Given the description of an element on the screen output the (x, y) to click on. 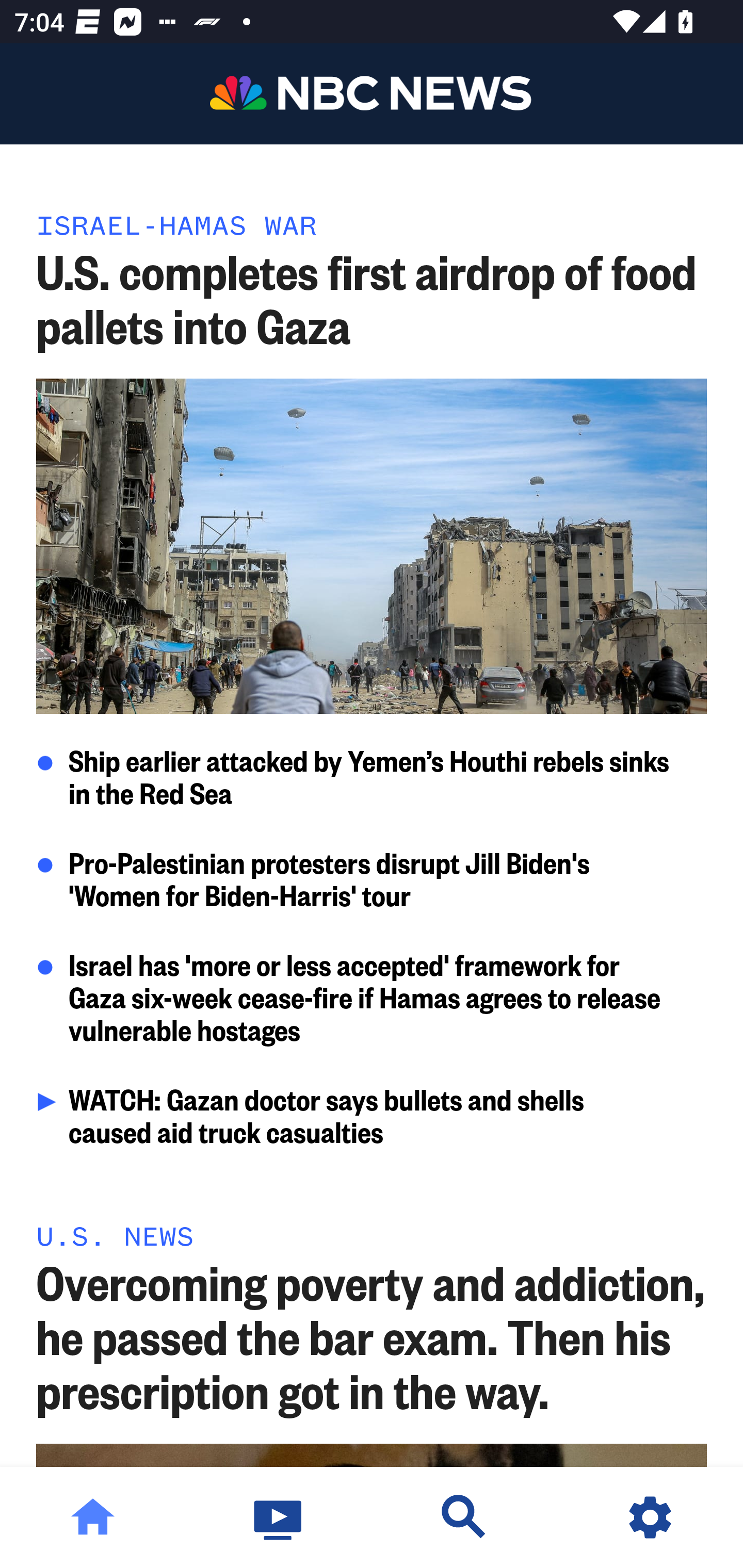
Watch (278, 1517)
Discover (464, 1517)
Settings (650, 1517)
